Given the description of an element on the screen output the (x, y) to click on. 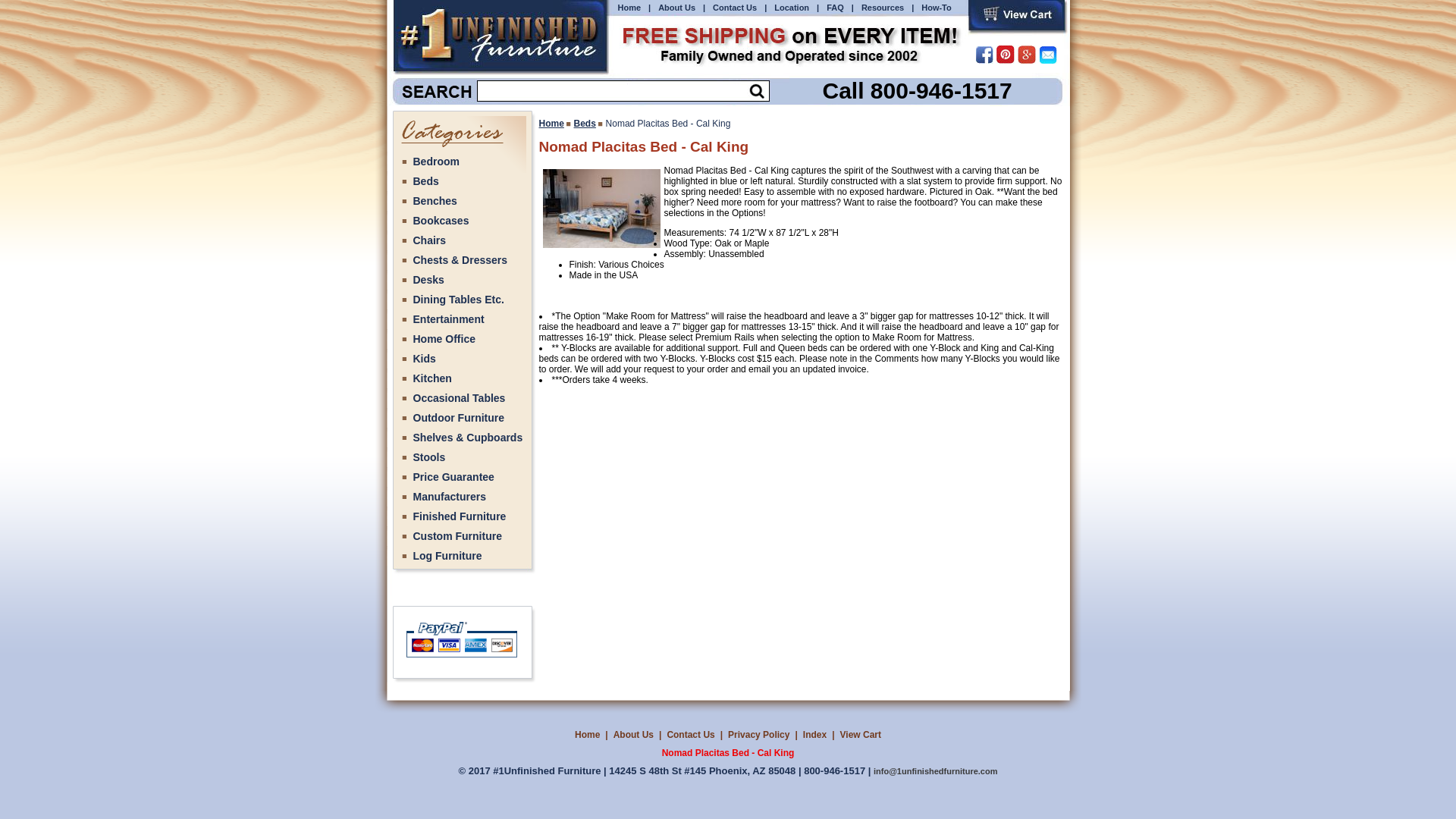
Chests & Dressers Element type: text (460, 259)
Kids Element type: text (460, 358)
Location Element type: text (791, 7)
Beds Element type: text (585, 123)
Dining Tables Etc. Element type: text (460, 299)
Entertainment Element type: text (460, 319)
Resources Element type: text (882, 7)
Bedroom Element type: text (460, 161)
Contact Us Element type: text (690, 734)
Log Furniture Element type: text (460, 555)
Benches Element type: text (460, 200)
Price Guarantee Element type: text (460, 476)
About Us Element type: text (676, 7)
About Us Element type: text (633, 734)
Contact Us Element type: text (734, 7)
Index Element type: text (814, 734)
Finished Furniture Element type: text (460, 516)
Shelves & Cupboards Element type: text (460, 437)
FAQ Element type: text (835, 7)
Manufacturers Element type: text (460, 496)
Privacy Policy Element type: text (758, 734)
Beds Element type: text (460, 181)
Desks Element type: text (460, 279)
Chairs Element type: text (460, 240)
Stools Element type: text (460, 457)
Home Element type: text (587, 734)
Outdoor Furniture Element type: text (460, 417)
Custom Furniture Element type: text (460, 536)
info@1unfinishedfurniture.com Element type: text (935, 770)
Kitchen Element type: text (460, 378)
Home Office Element type: text (460, 338)
View Cart Element type: text (860, 734)
Home Element type: text (628, 7)
How-To Element type: text (936, 7)
Occasional Tables Element type: text (460, 397)
Home Element type: text (550, 123)
Advertisement Element type: hover (726, 512)
Bookcases Element type: text (460, 220)
